Given the description of an element on the screen output the (x, y) to click on. 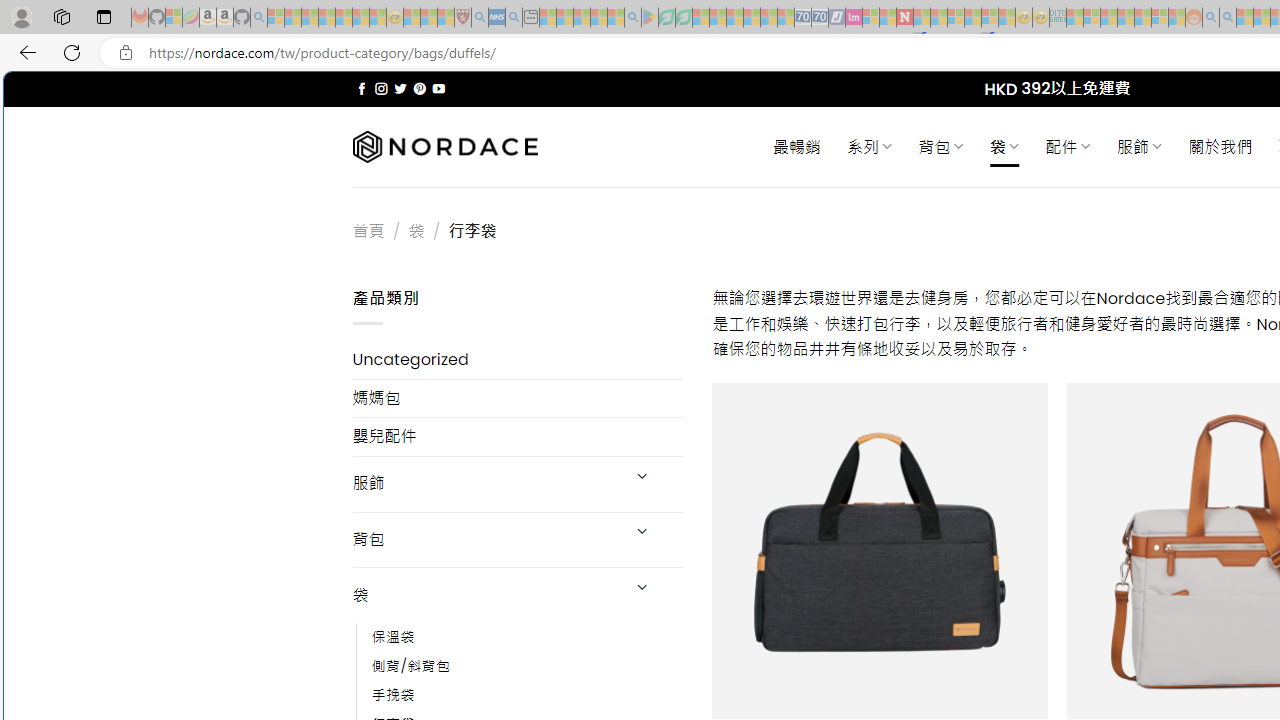
Uncategorized (517, 359)
